Given the description of an element on the screen output the (x, y) to click on. 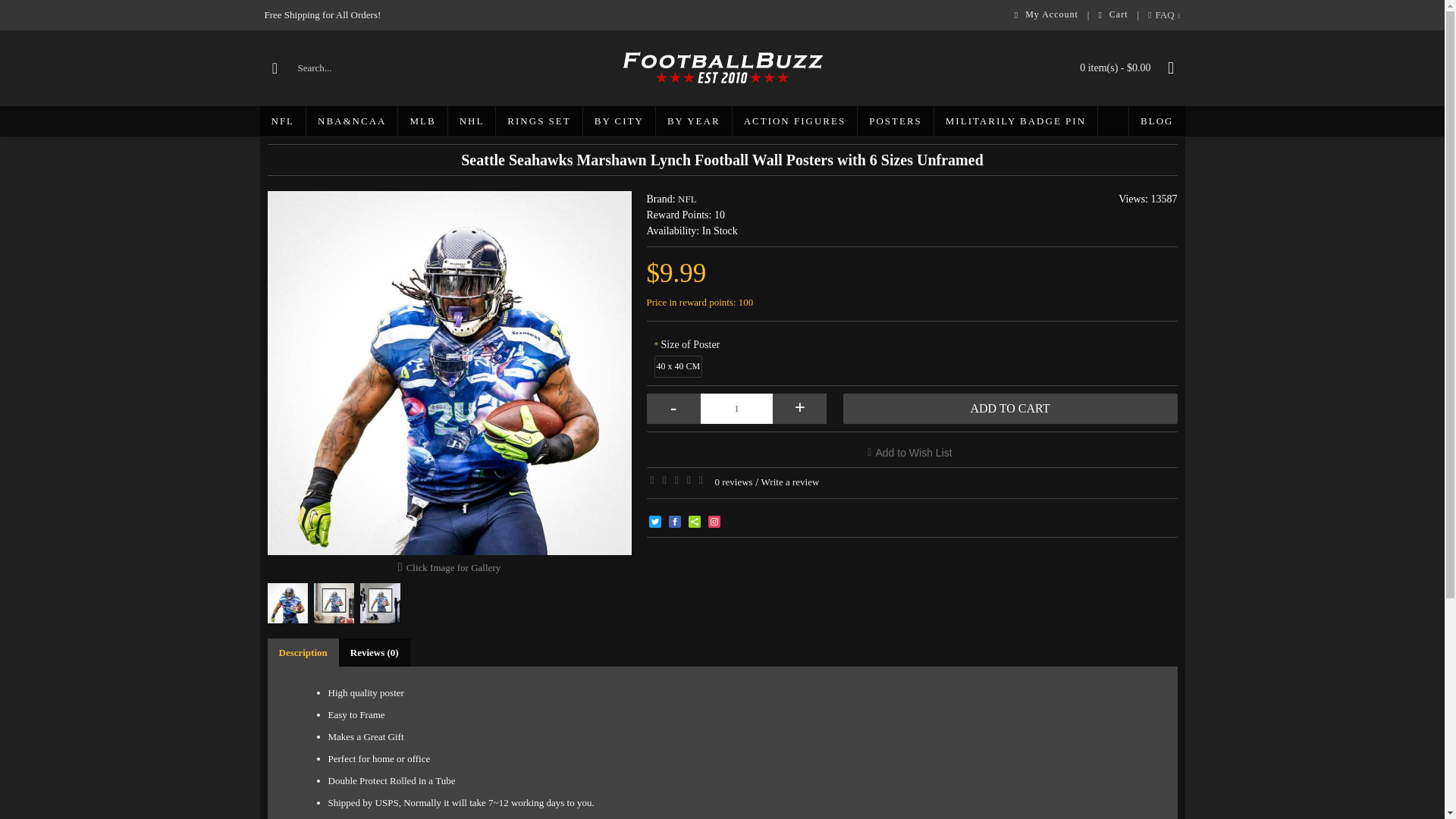
Cart (1112, 15)
1 (736, 408)
FootballBuzz.club (722, 67)
My Account (1046, 15)
NFL (282, 121)
